Given the description of an element on the screen output the (x, y) to click on. 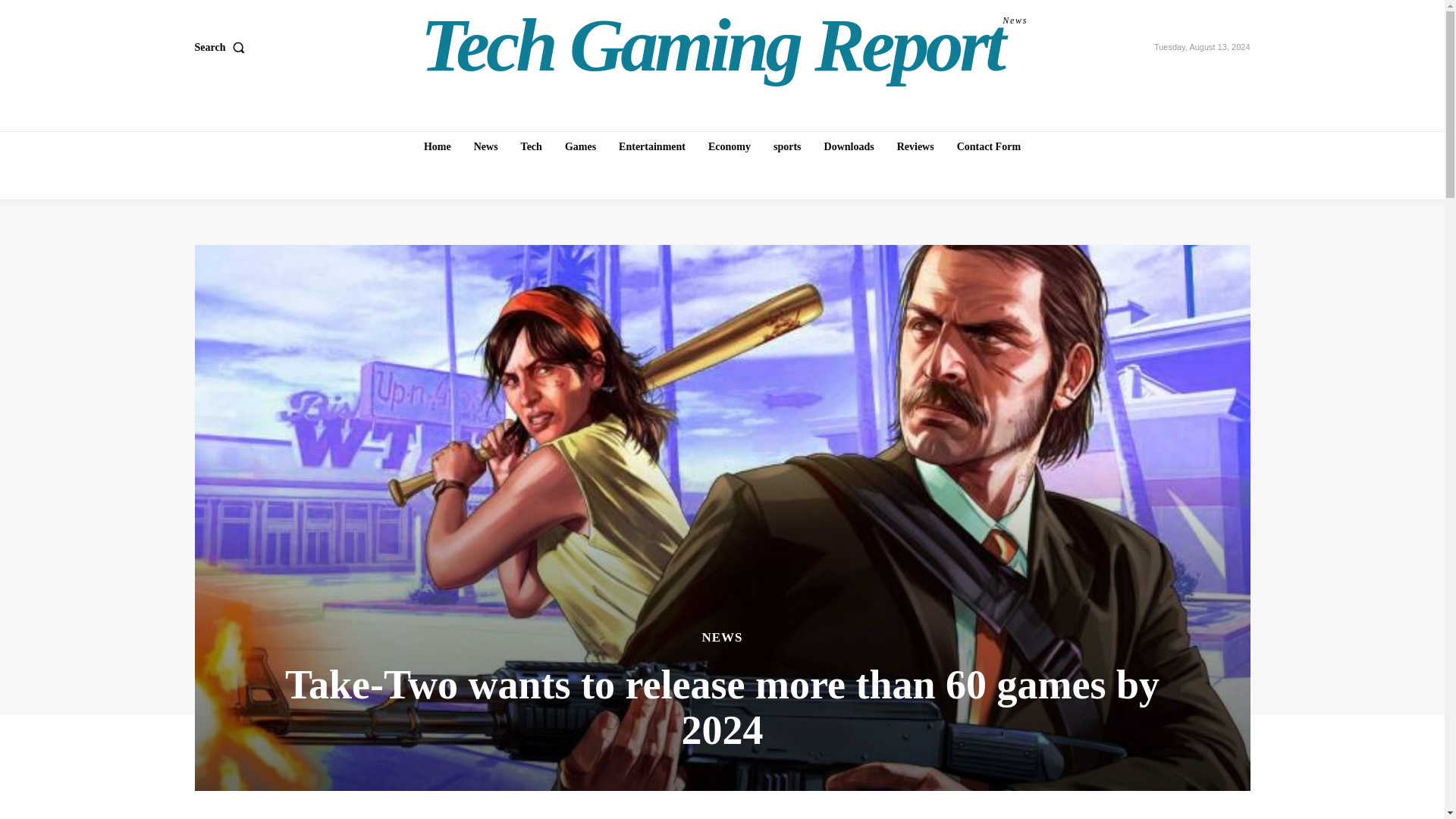
Downloads (849, 146)
Home (437, 146)
Search (724, 45)
Games (221, 47)
Entertainment (580, 146)
Tech (652, 146)
News (531, 146)
Contact Form (485, 146)
Economy (988, 146)
